Given the description of an element on the screen output the (x, y) to click on. 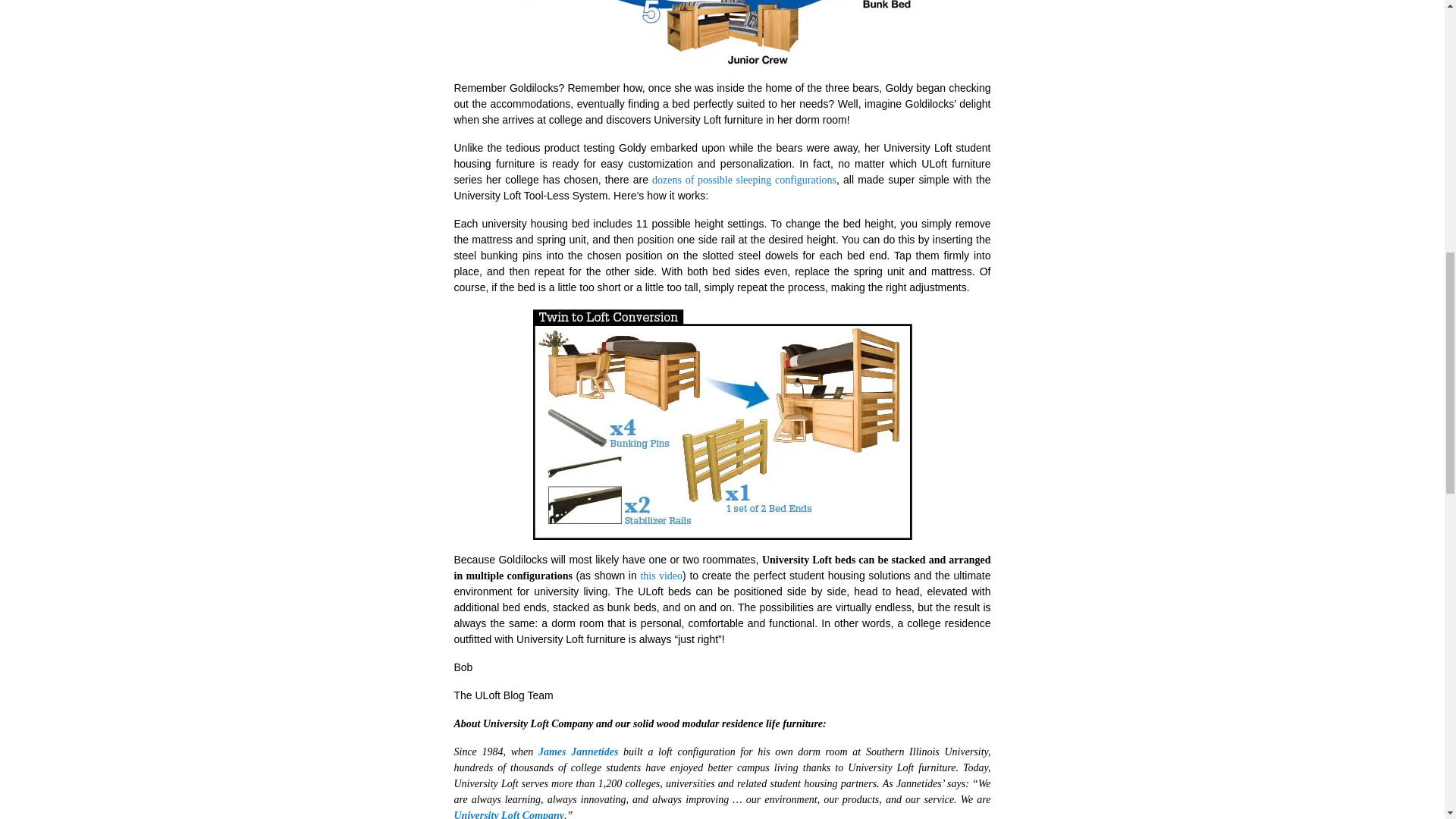
graduateEvolution web (722, 40)
University Loft Dorm Room Solutions (743, 179)
twinToLoftConversion (721, 423)
